Given the description of an element on the screen output the (x, y) to click on. 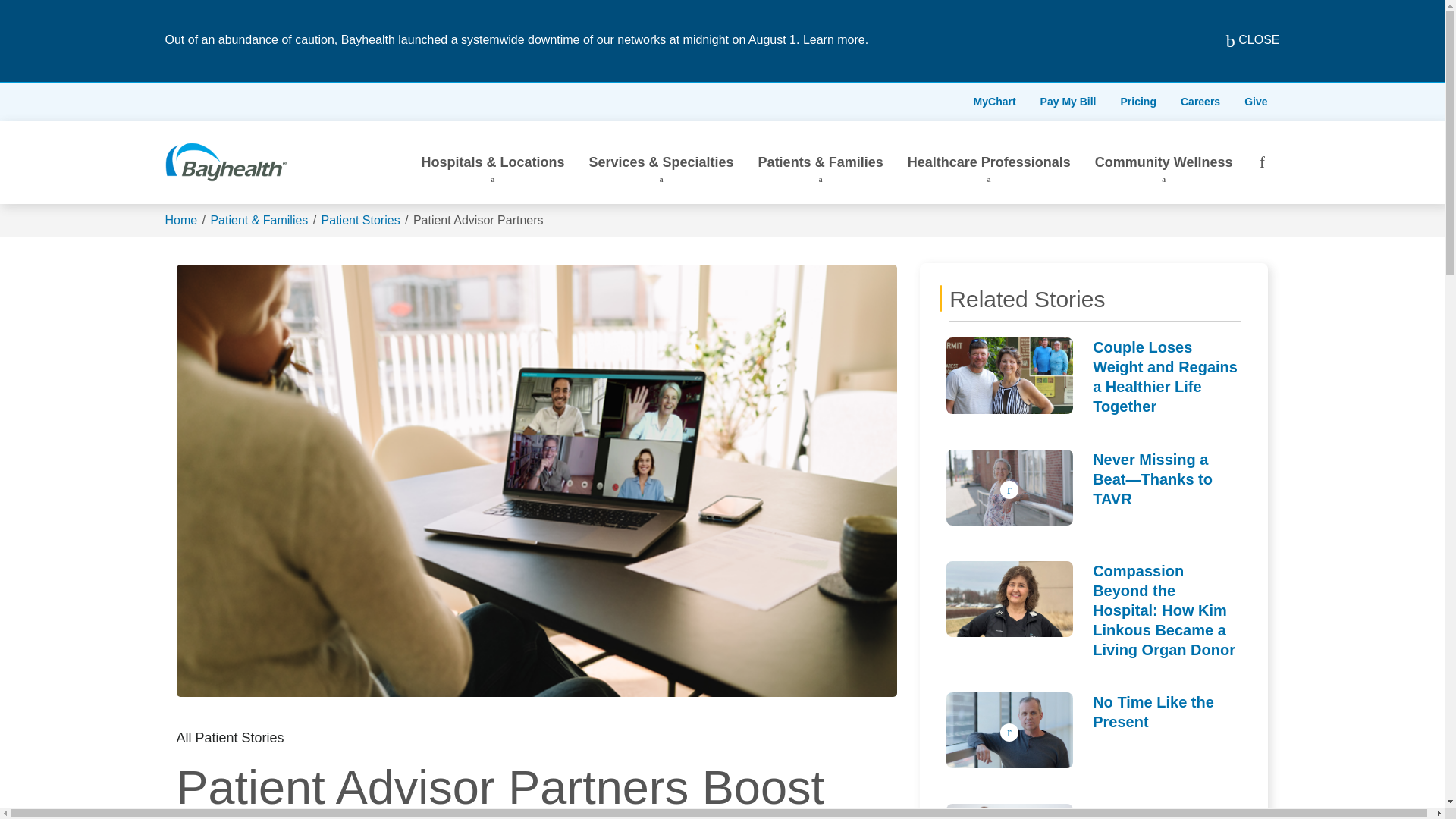
MyChart (993, 101)
Give (1255, 101)
Pay My Bill (1067, 101)
Pay My Bill (1067, 101)
Bayhealth (225, 161)
CLOSE (1240, 40)
Pricing (1138, 101)
Pricing (1138, 101)
Learn more. (835, 39)
